Given the description of an element on the screen output the (x, y) to click on. 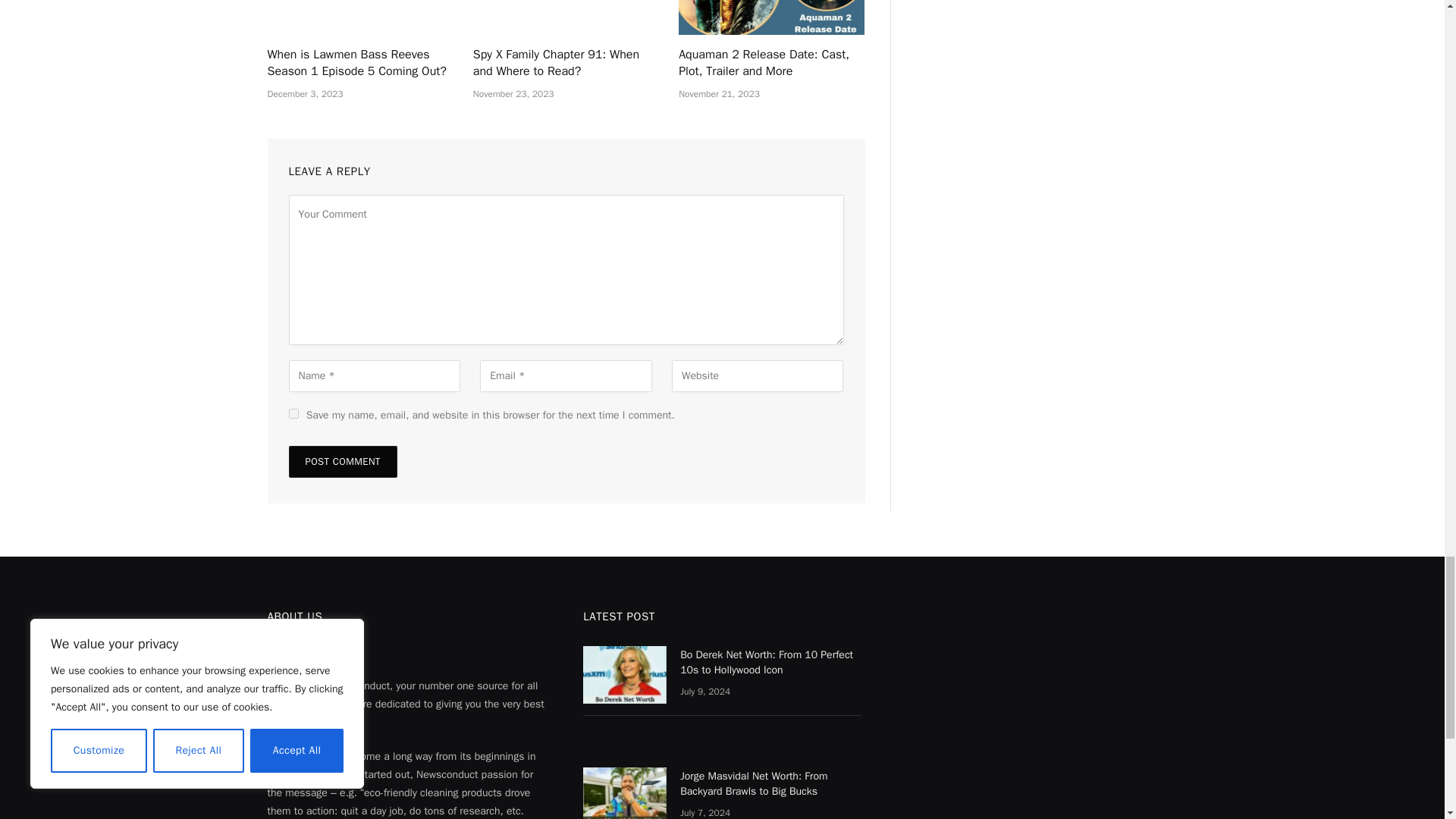
Post Comment (342, 461)
yes (293, 413)
